Given the description of an element on the screen output the (x, y) to click on. 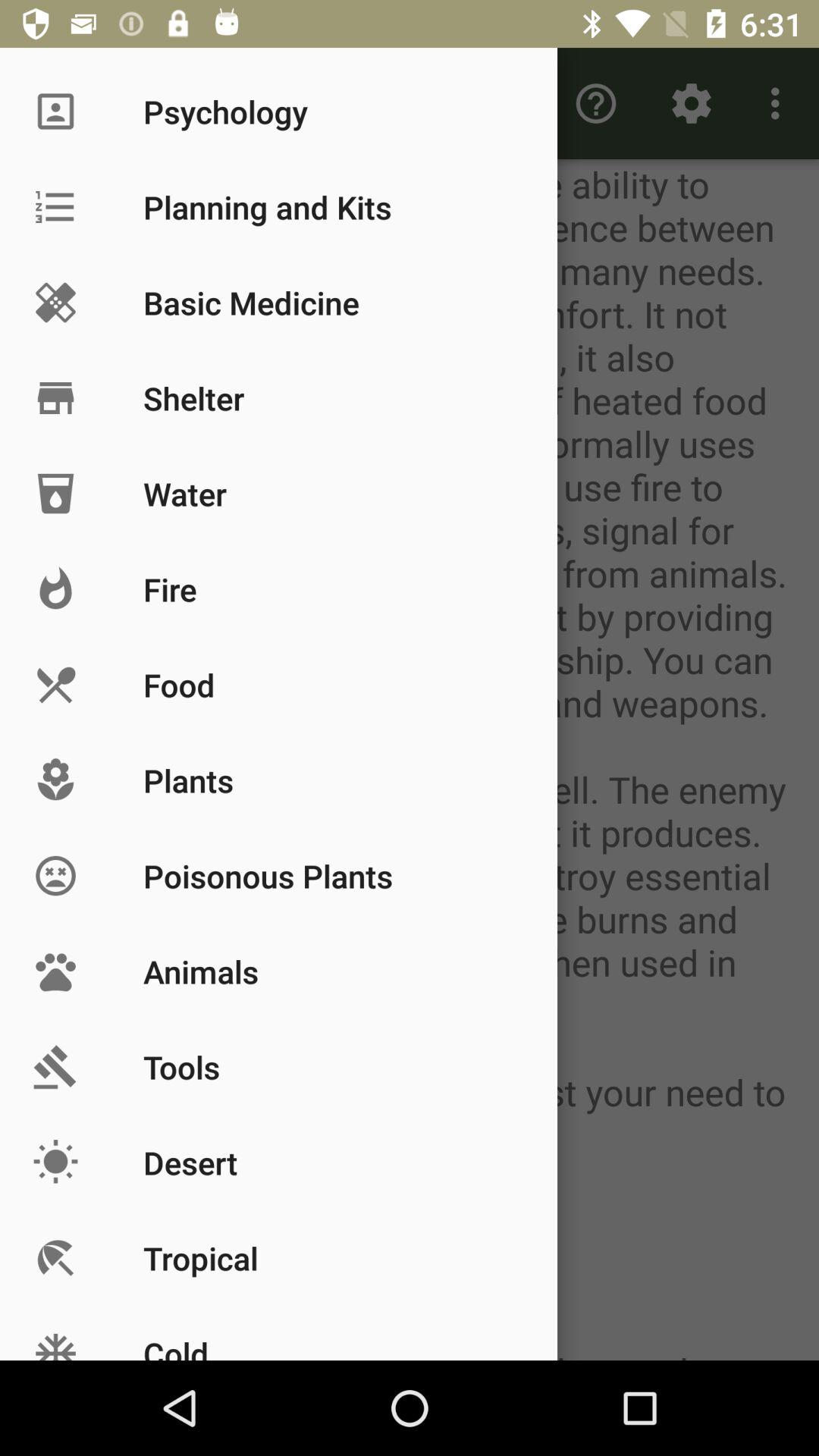
click on the settings symbol (691, 103)
